Given the description of an element on the screen output the (x, y) to click on. 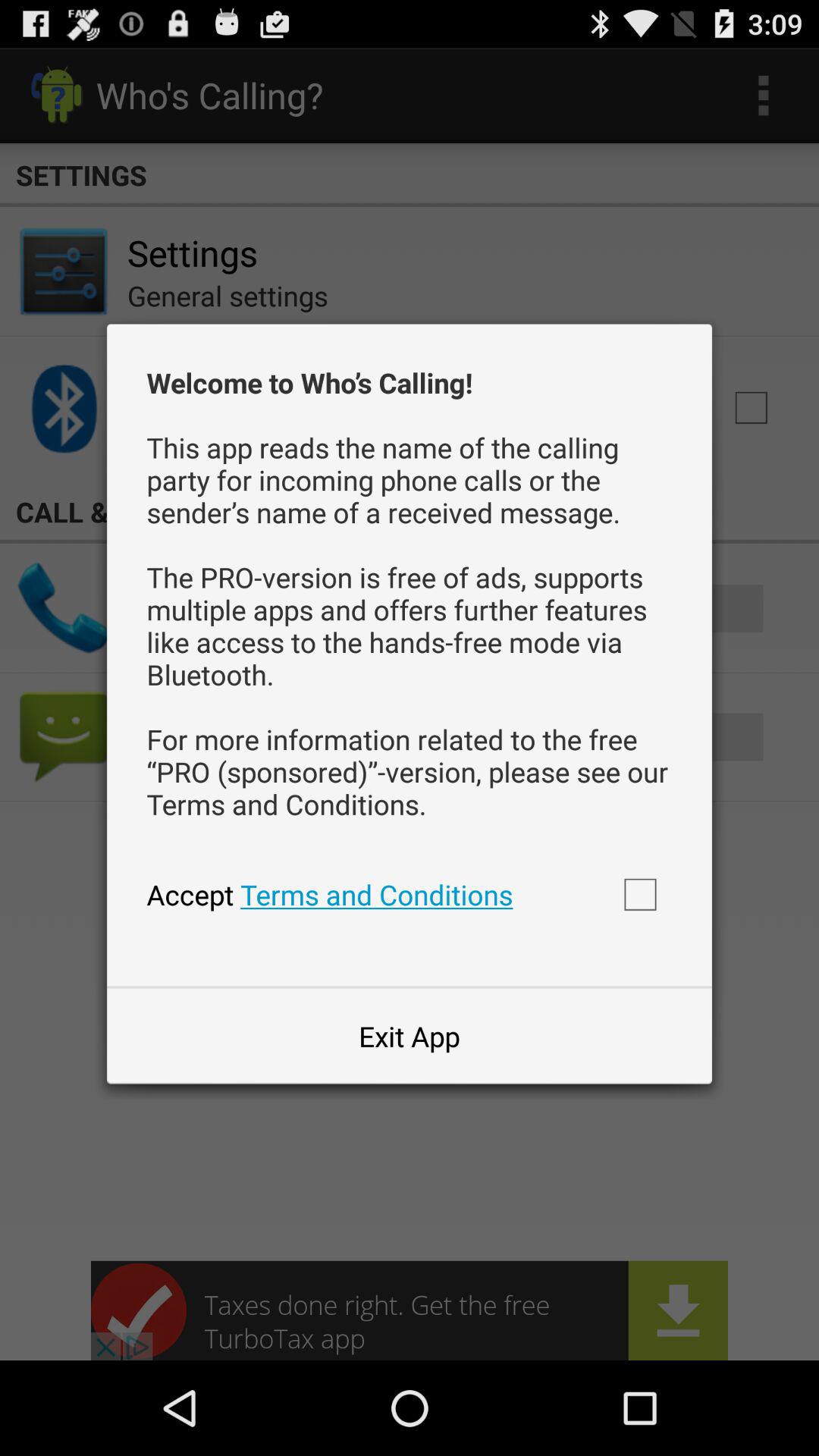
accept terms and conditions box (640, 894)
